Given the description of an element on the screen output the (x, y) to click on. 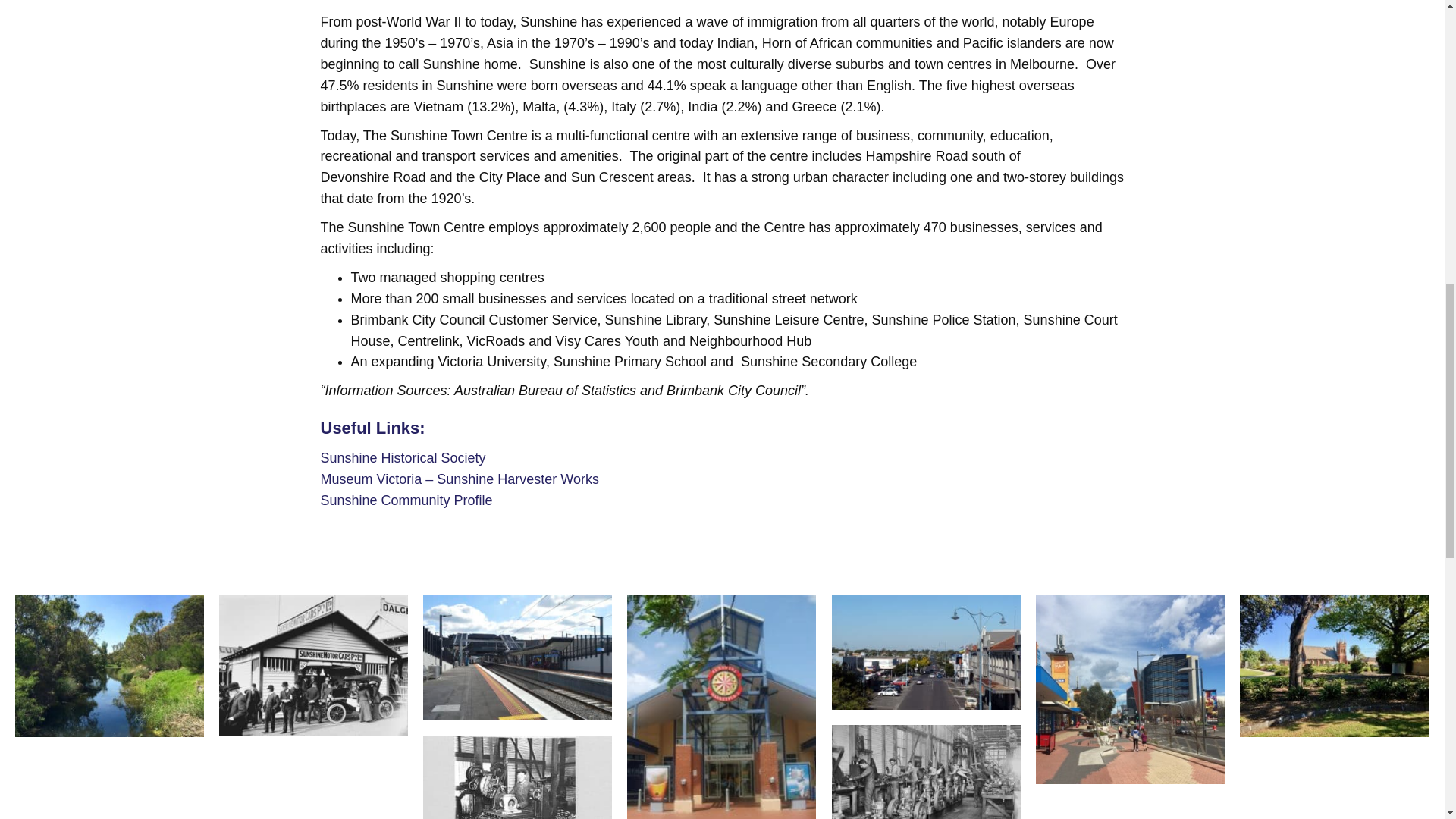
Sunshine Historical Society (402, 458)
Sunshine Community Profile (406, 500)
